Given the description of an element on the screen output the (x, y) to click on. 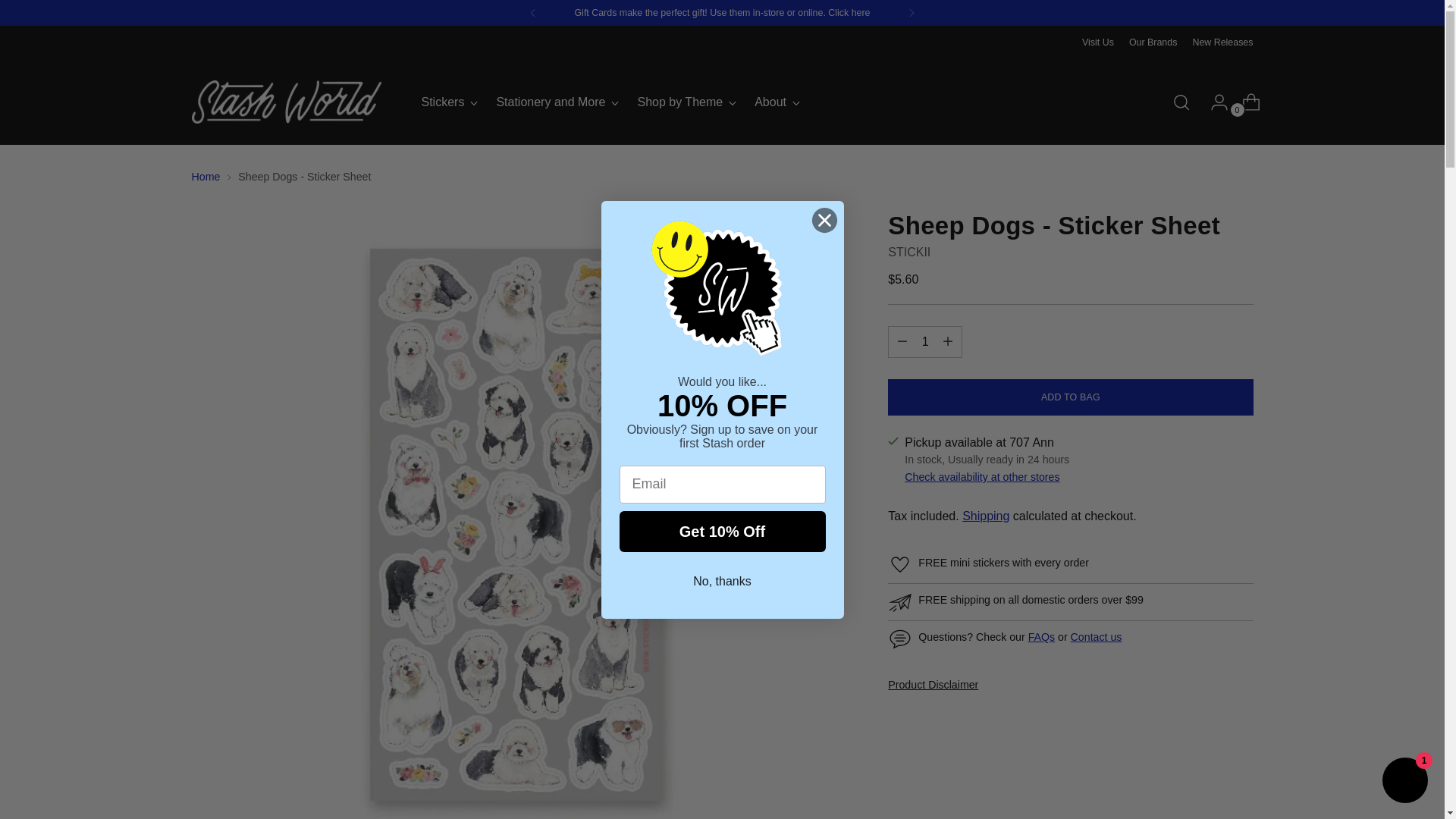
New Releases (1222, 41)
FAQ (1040, 636)
Contact (1096, 636)
Previous (533, 12)
Stickers (609, 101)
1 (450, 101)
Visit Us (925, 341)
Next (1097, 41)
Stationery and More (911, 12)
Our Brands (557, 101)
STICKII (1153, 41)
